Given the description of an element on the screen output the (x, y) to click on. 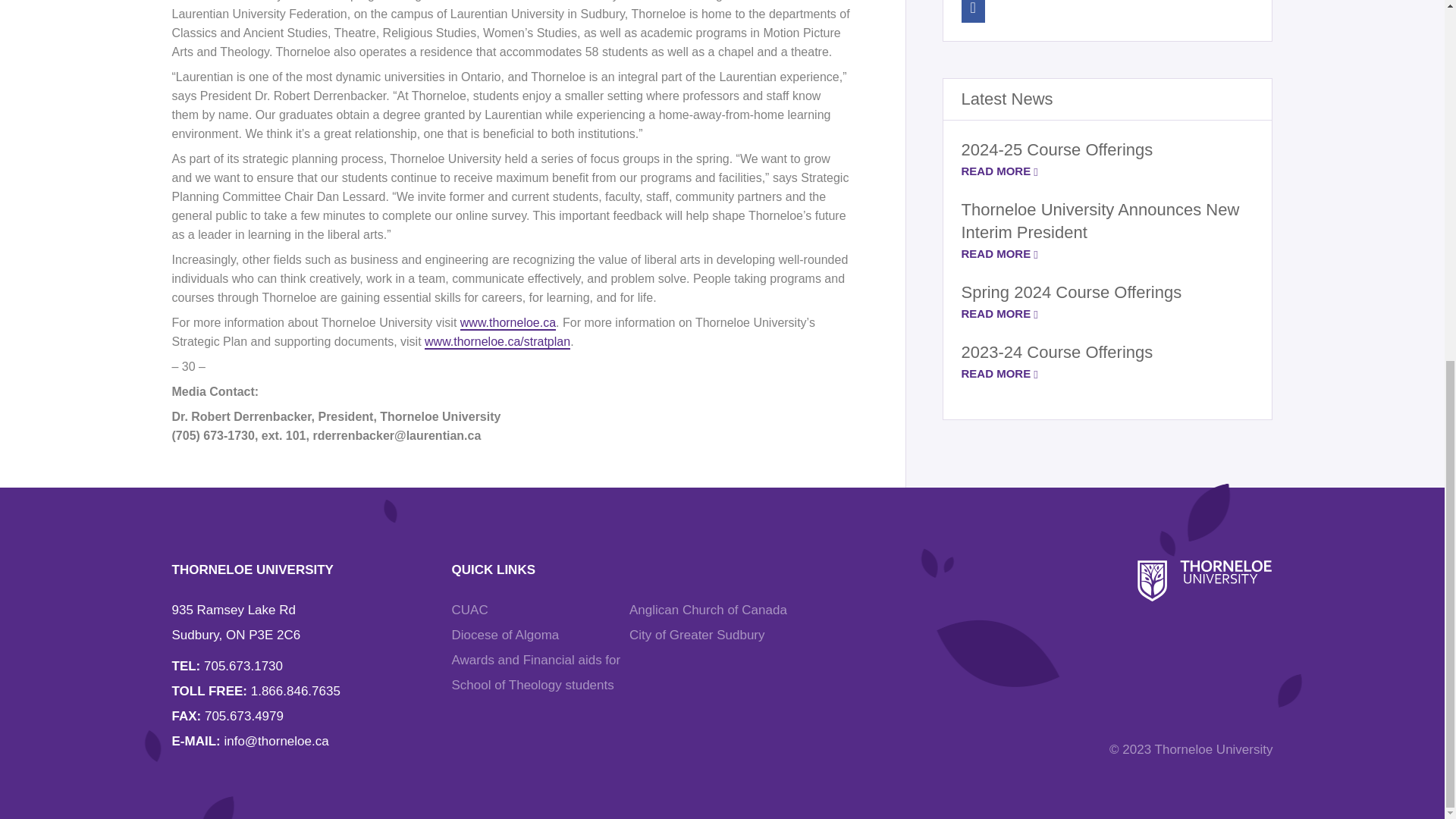
Latest News (1006, 98)
Facebook (972, 11)
